Given the description of an element on the screen output the (x, y) to click on. 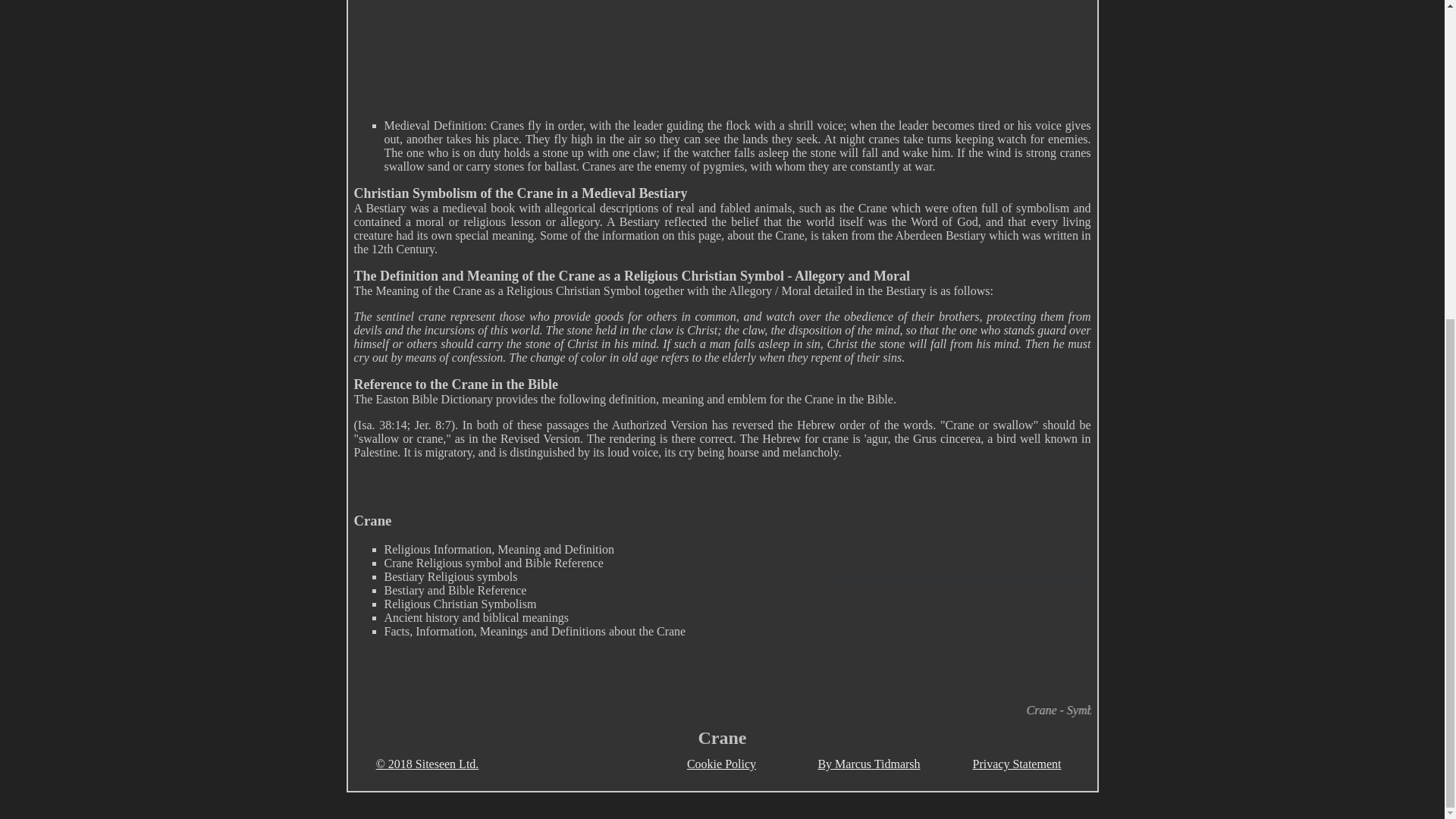
Privacy Statement (1016, 763)
By Marcus Tidmarsh (868, 763)
Cookie Policy (721, 763)
Advertisement (721, 52)
